Given the description of an element on the screen output the (x, y) to click on. 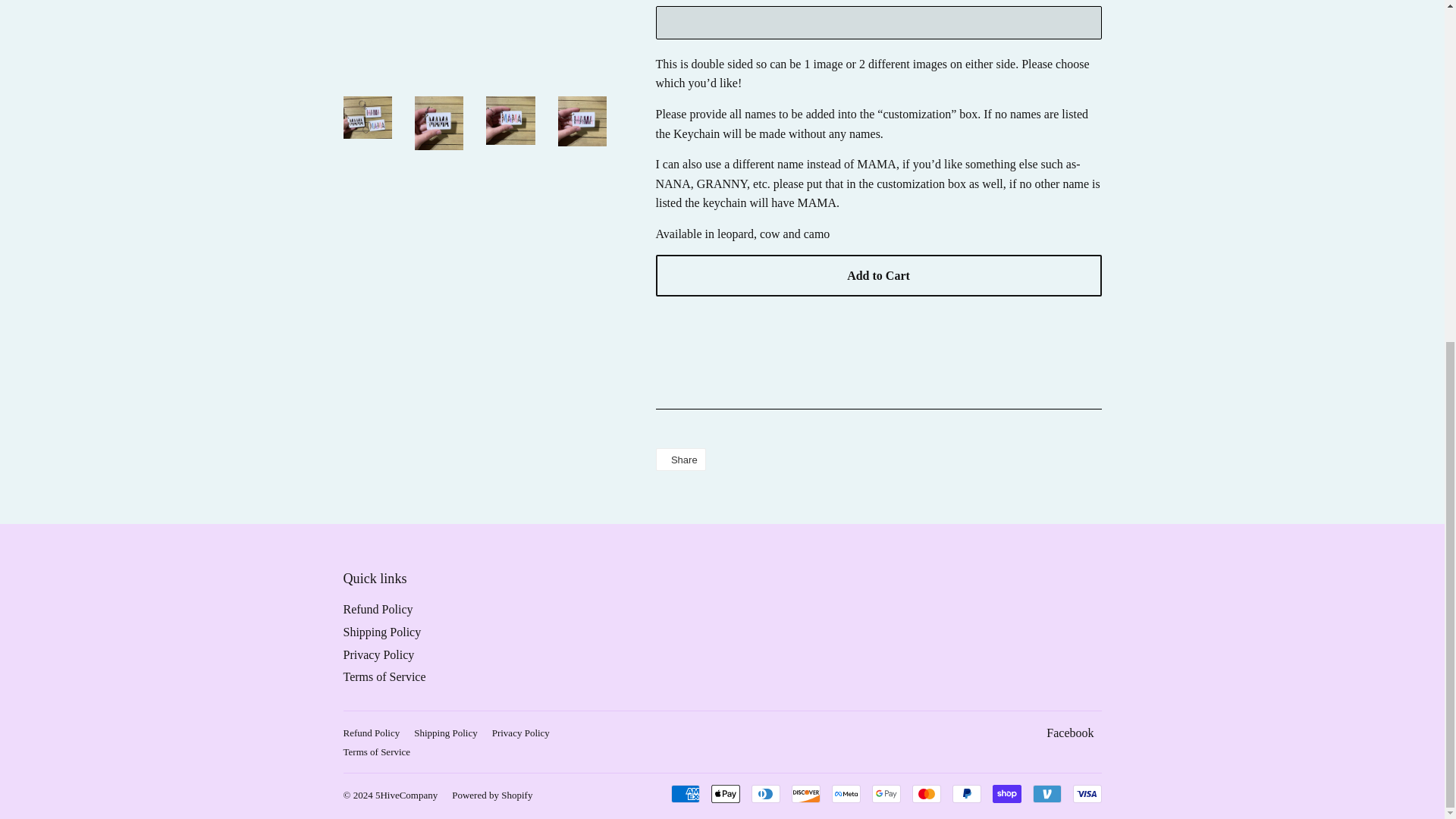
Share on Facebook (679, 458)
PayPal (966, 793)
Google Pay (886, 793)
Visa (1085, 793)
Diners Club (764, 793)
Meta Pay (845, 793)
5HiveCompany on Facebook (1069, 732)
Mastercard (925, 793)
American Express (683, 793)
Discover (806, 793)
Shop Pay (1005, 793)
Apple Pay (725, 793)
Venmo (1046, 793)
